Given the description of an element on the screen output the (x, y) to click on. 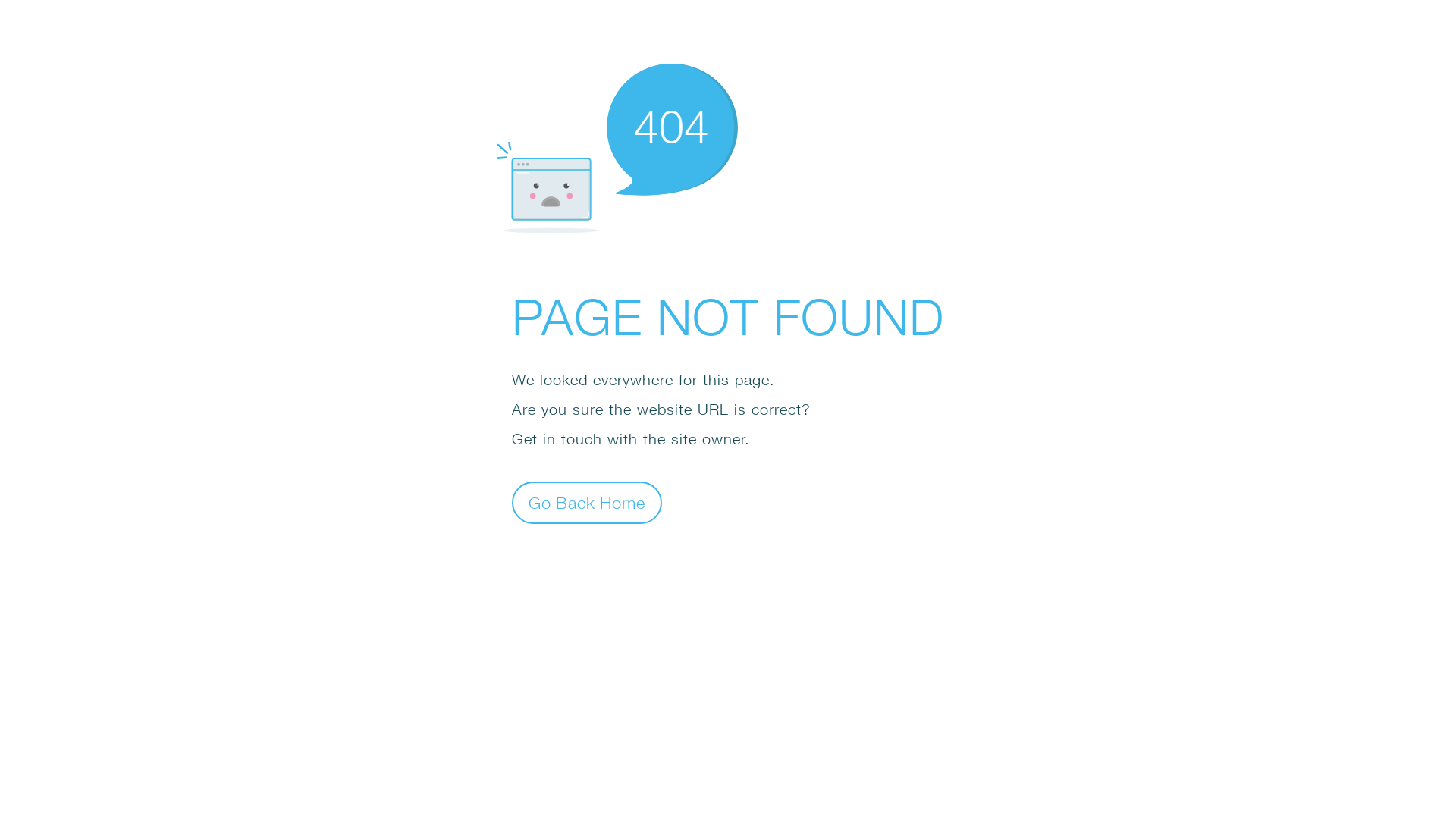
Go Back Home Element type: text (586, 502)
